Given the description of an element on the screen output the (x, y) to click on. 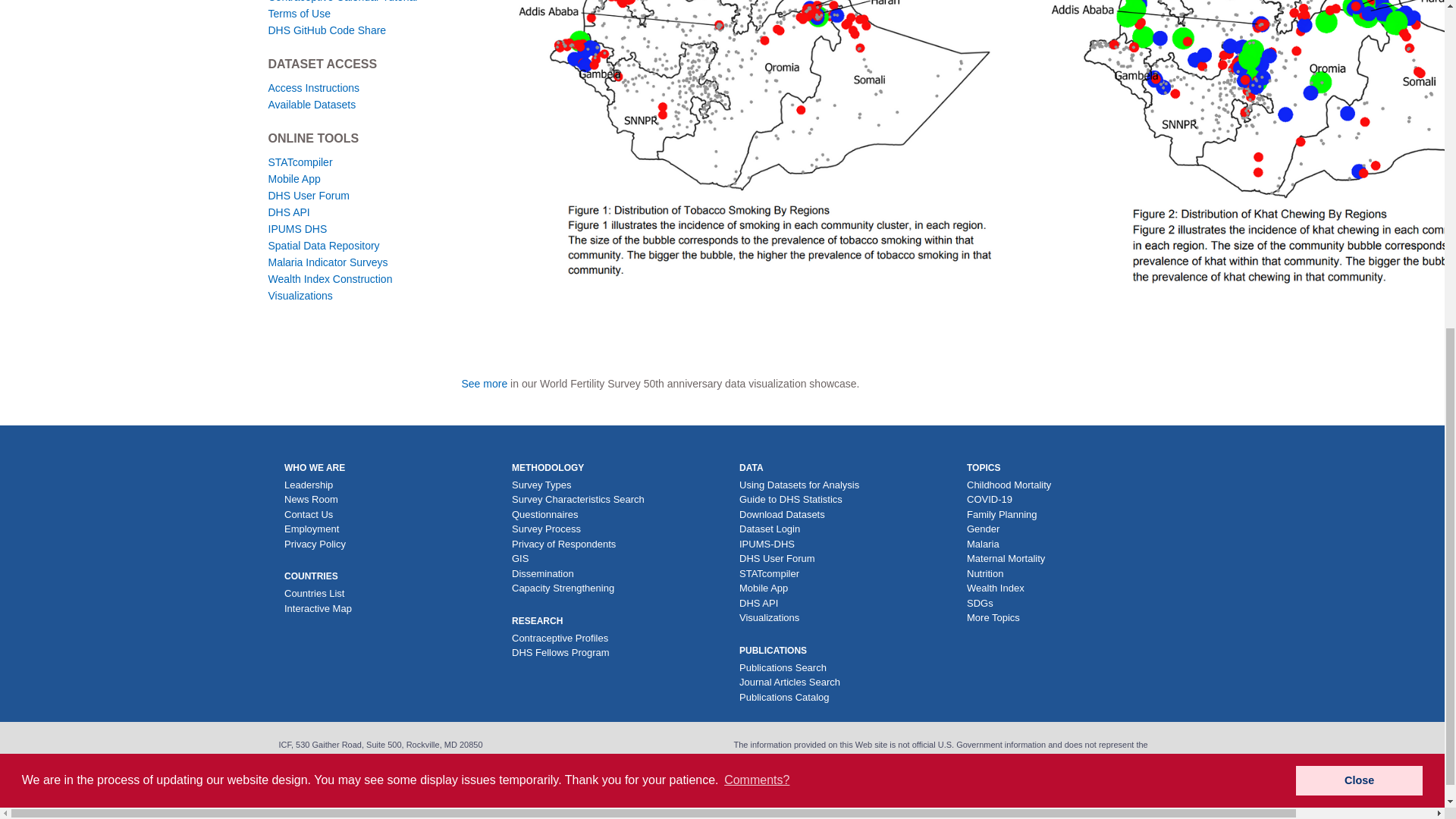
Got it! (1358, 218)
Learn more (491, 217)
Comments? (757, 217)
